Given the description of an element on the screen output the (x, y) to click on. 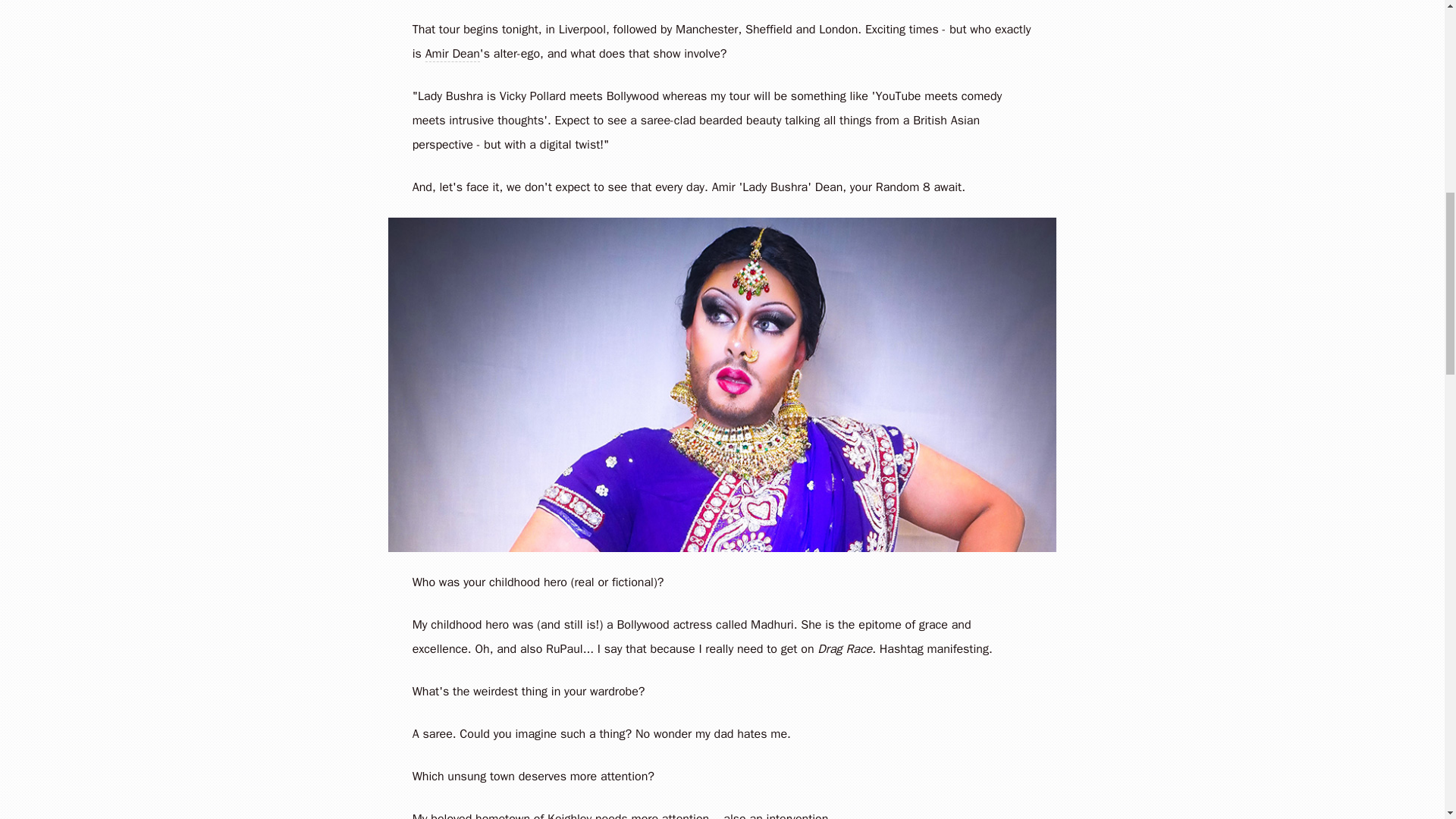
Amir Dean (452, 53)
Amir Dean profile (452, 53)
